Given the description of an element on the screen output the (x, y) to click on. 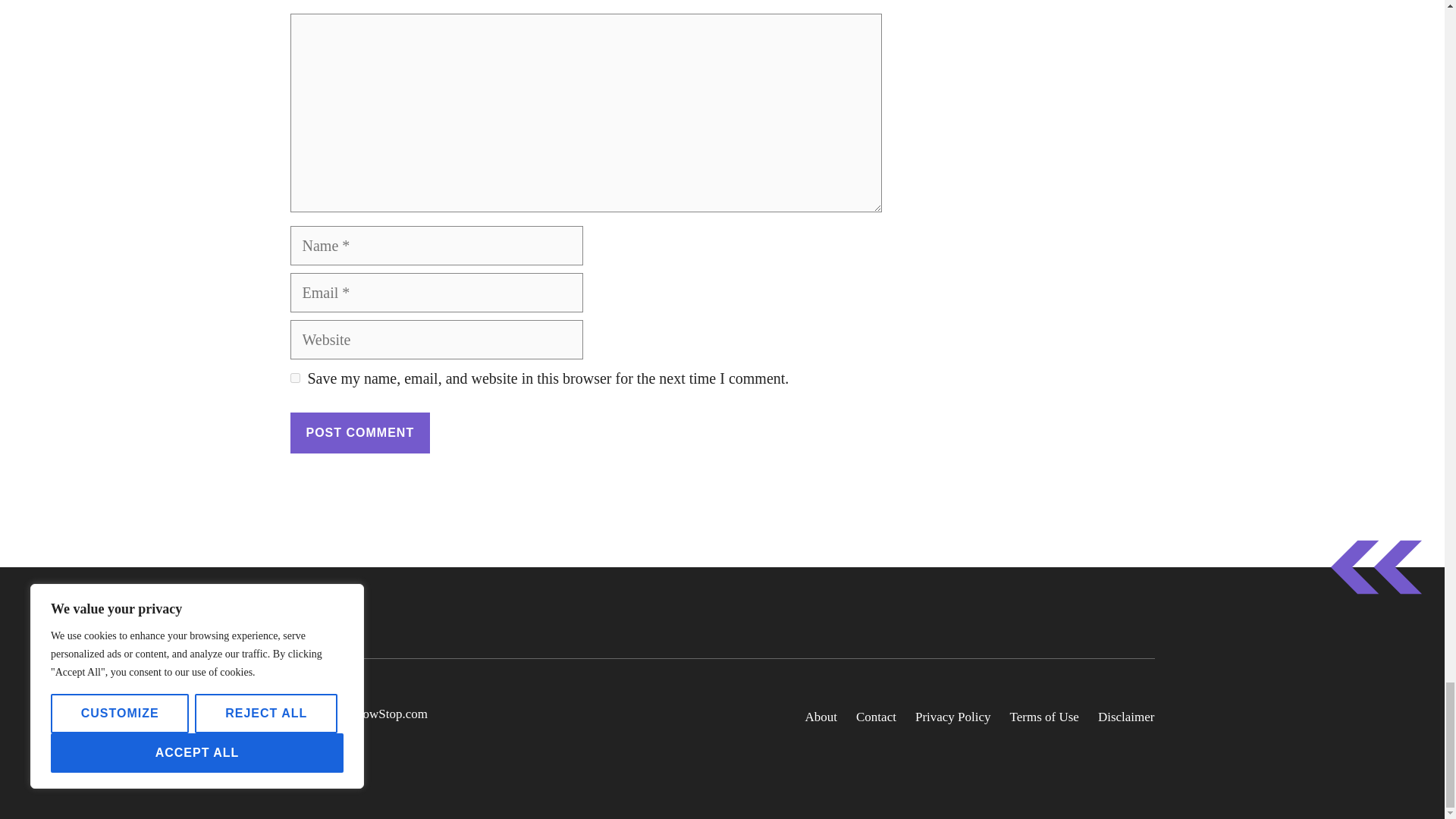
Post Comment (359, 432)
yes (294, 378)
